Given the description of an element on the screen output the (x, y) to click on. 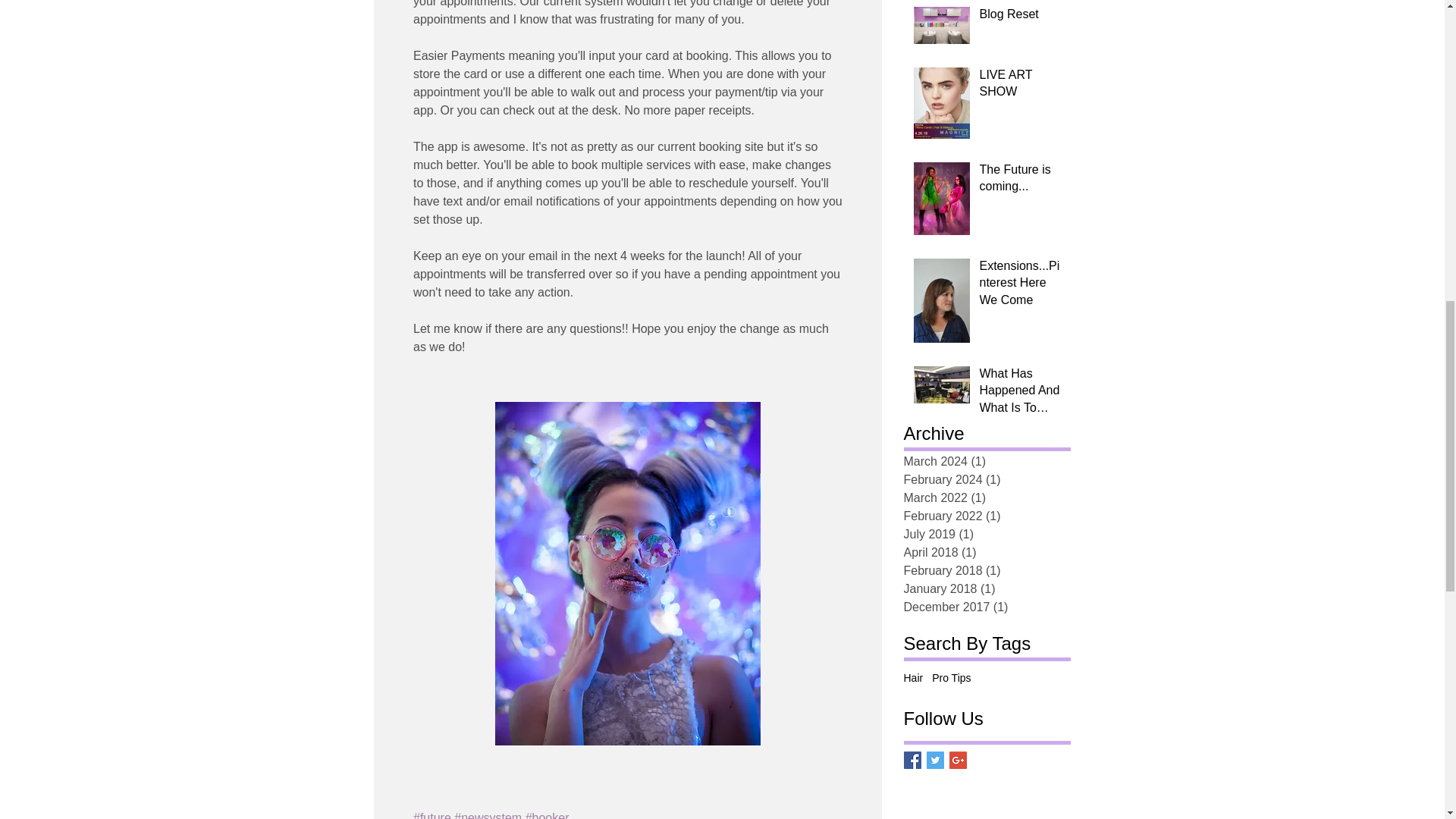
The Future is coming... (1020, 181)
Pro Tips: What is the Best Way to Blow Dry My Hair? (1020, 1)
LIVE ART SHOW (1020, 86)
Blog Reset (1020, 16)
What Has Happened And What Is To Happen (1020, 393)
Extensions...Pinterest Here We Come (1020, 285)
